Given the description of an element on the screen output the (x, y) to click on. 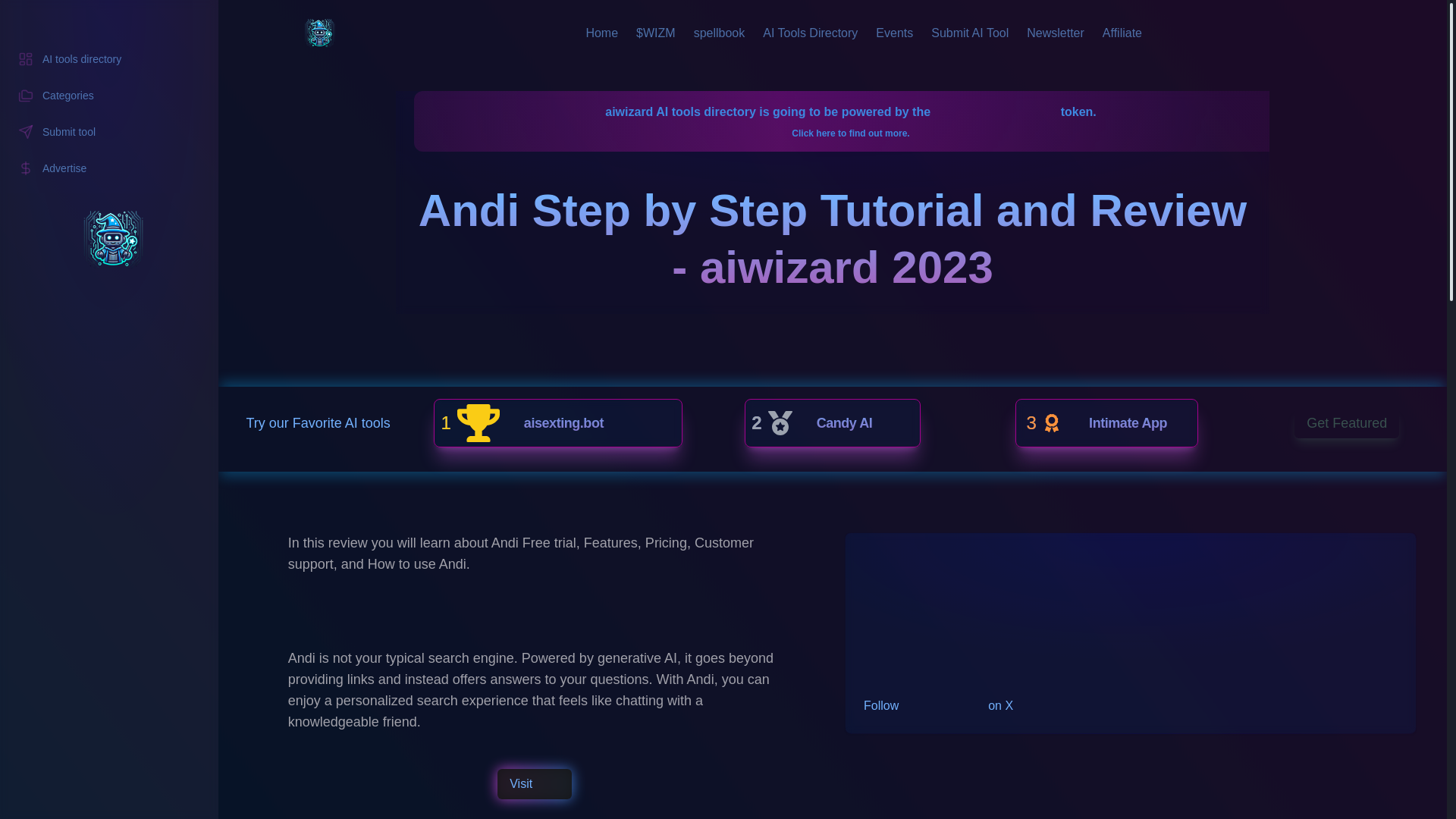
spellbook (557, 422)
How to use Andi Step by Step (1106, 422)
Events (719, 32)
Andi Free trial (944, 595)
Andi Customer support (894, 32)
Get Featured (901, 614)
AI tools directory (925, 668)
Newsletter (1346, 422)
Affiliate (108, 59)
Andi Pricing (1055, 32)
Categories (1121, 32)
Advertise (895, 650)
Submit tool (108, 95)
